Given the description of an element on the screen output the (x, y) to click on. 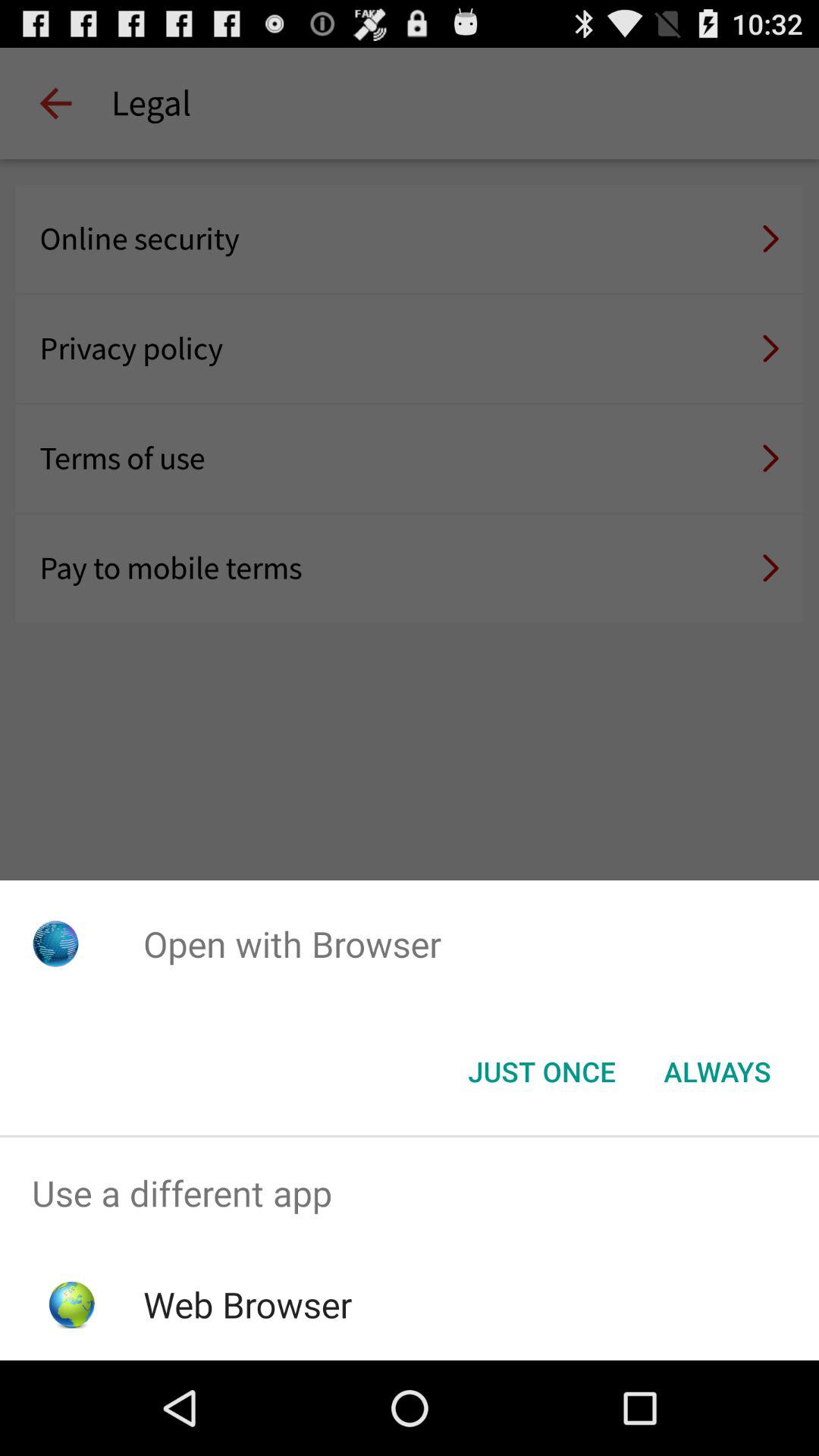
tap the icon at the bottom right corner (717, 1071)
